Given the description of an element on the screen output the (x, y) to click on. 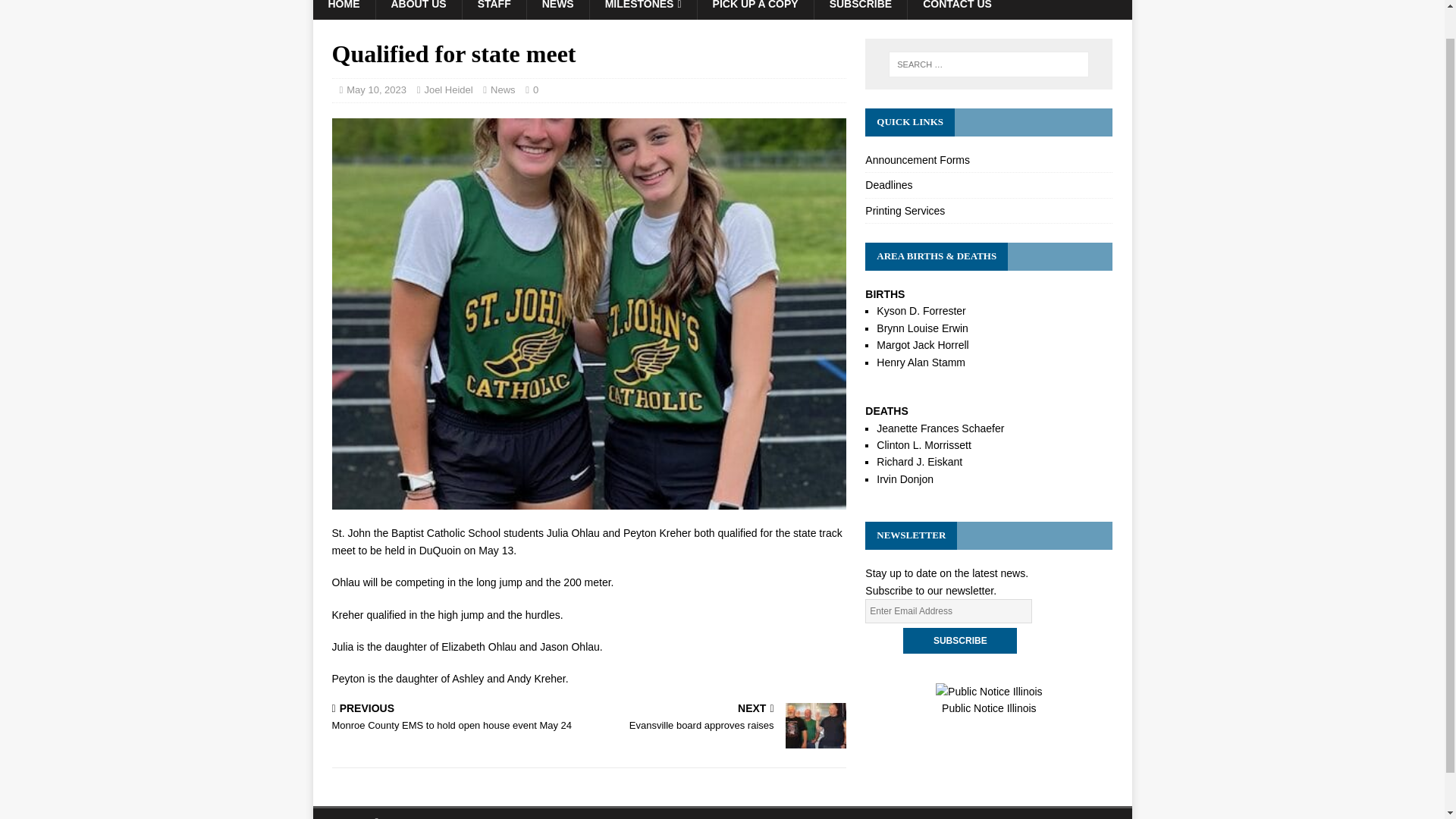
SUBSCRIBE (959, 640)
News (720, 717)
CONTACT US (502, 89)
Joel Heidel (957, 9)
Deadlines (447, 89)
STAFF (988, 184)
Printing Services (493, 9)
SJB - state track (988, 210)
Margot Jack Horrell (988, 161)
ABOUT US (922, 345)
PICK UP A COPY (417, 9)
Kyson D. Forrester (755, 9)
SUBSCRIBE (920, 310)
